Given the description of an element on the screen output the (x, y) to click on. 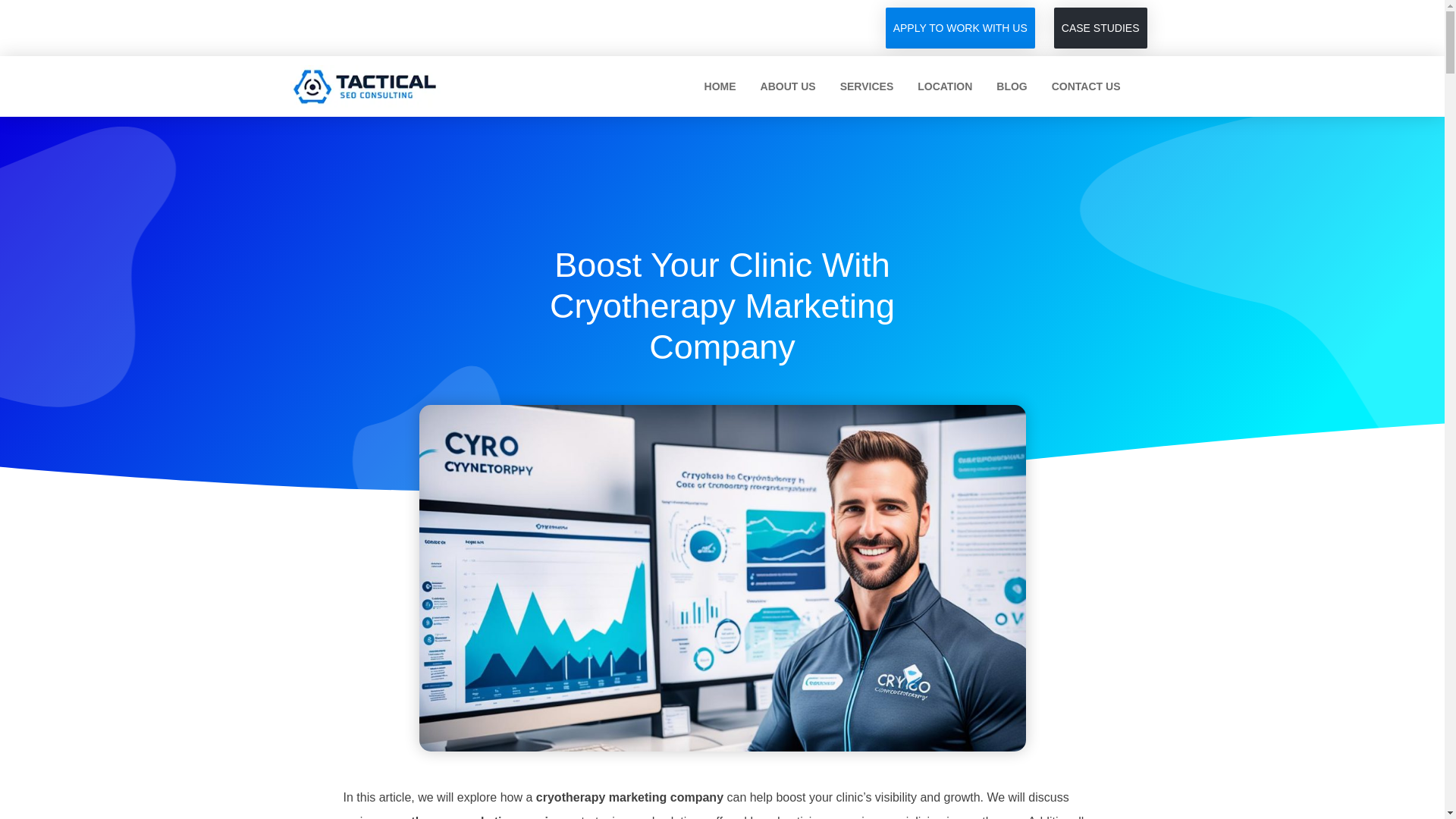
CONTACT US (1085, 86)
APPLY TO WORK WITH US (960, 27)
CASE STUDIES (1100, 27)
SERVICES (866, 86)
BLOG (1011, 86)
LOCATION (944, 86)
ABOUT US (788, 86)
HOME (720, 86)
